Given the description of an element on the screen output the (x, y) to click on. 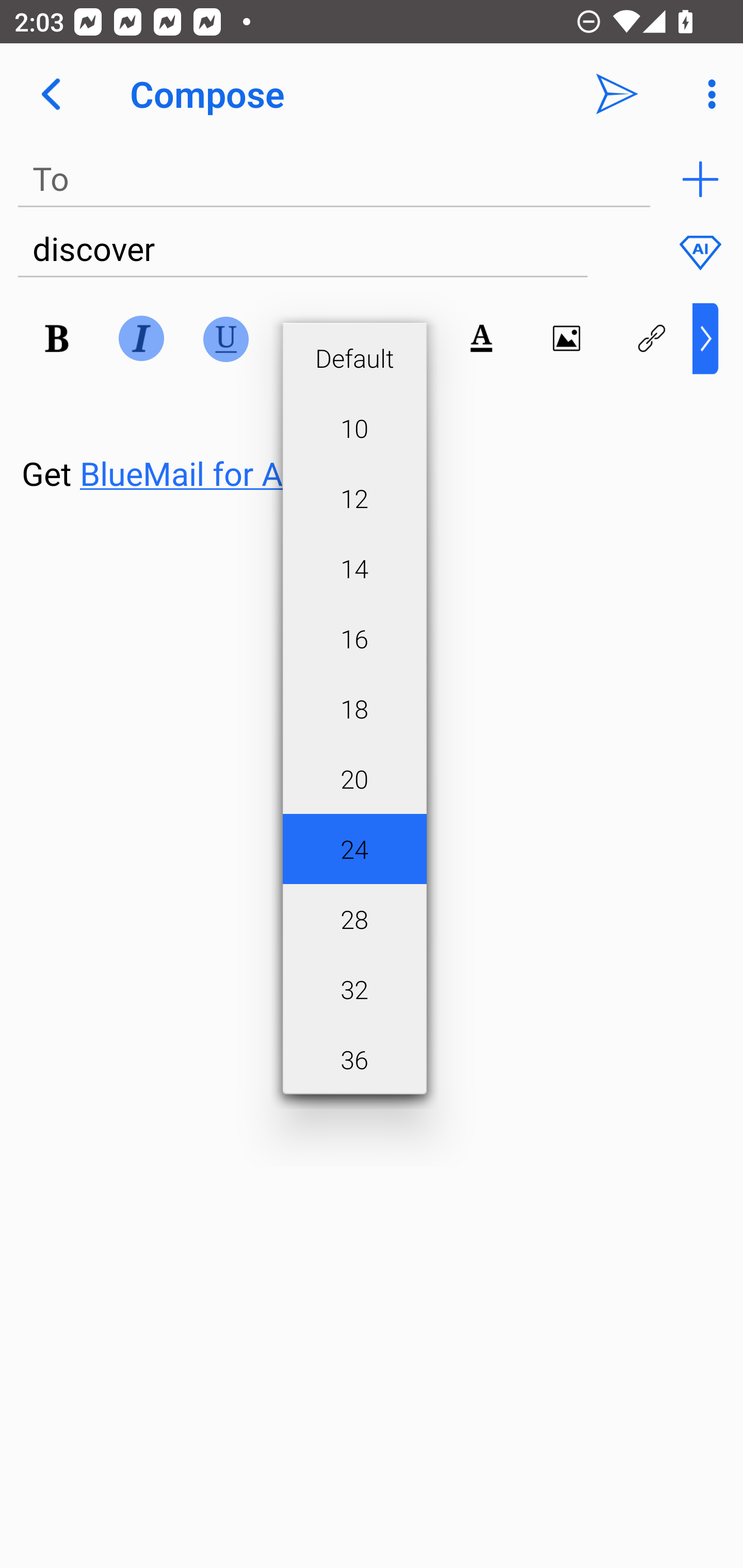
Default (354, 358)
10 (354, 427)
12 (354, 497)
14 (354, 568)
16 (354, 638)
18 (354, 708)
20 (354, 778)
24 (354, 848)
28 (354, 919)
32 (354, 988)
36 (354, 1058)
